Given the description of an element on the screen output the (x, y) to click on. 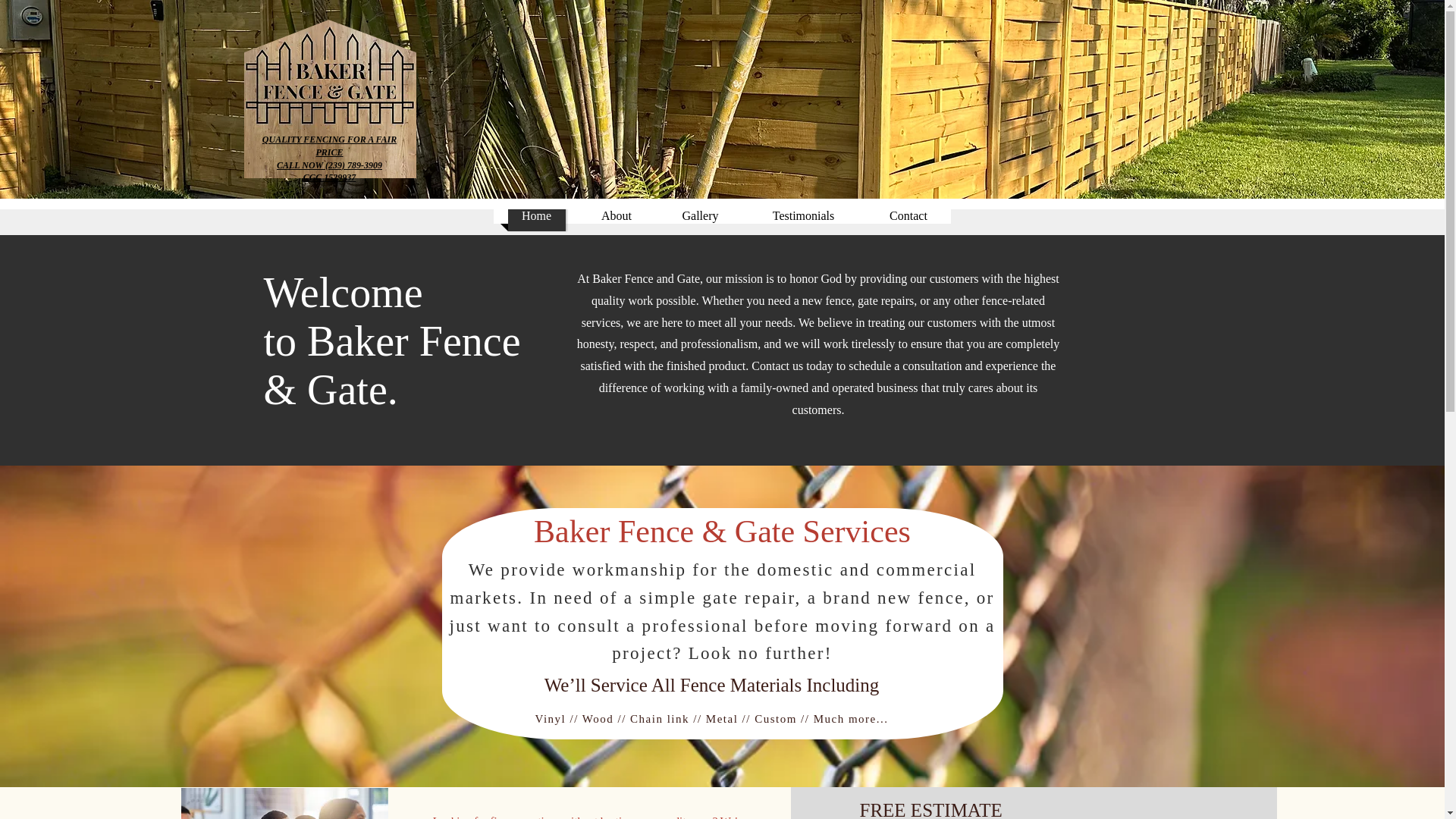
About (615, 215)
Gallery (699, 215)
Home (536, 215)
Testimonials (804, 215)
Contact (908, 215)
Laughing During a Meeting (283, 803)
32800FFA-65BC-4746-BA63-83992696701C.png (330, 98)
